Given the description of an element on the screen output the (x, y) to click on. 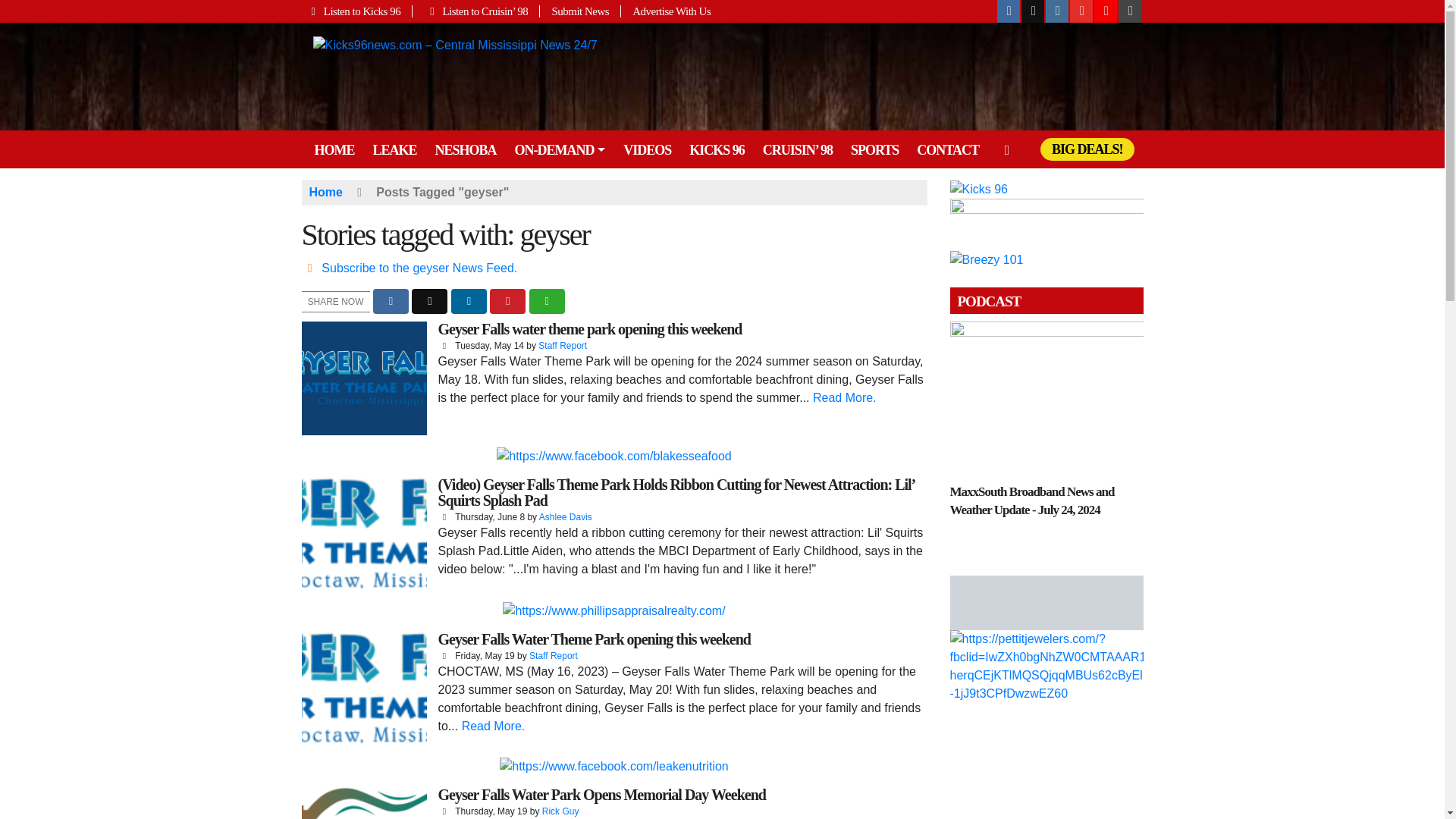
Follow us on Soundcloud (1105, 11)
Advertise With Us (665, 10)
Submit News (580, 10)
Follow us on Instagram (1056, 11)
Get our iOS App (1129, 11)
Follow us on X (1032, 11)
Follow us on Facebook (1008, 11)
Follow us on Youtube (1081, 11)
Listen to Kicks 96 (357, 10)
